Given the description of an element on the screen output the (x, y) to click on. 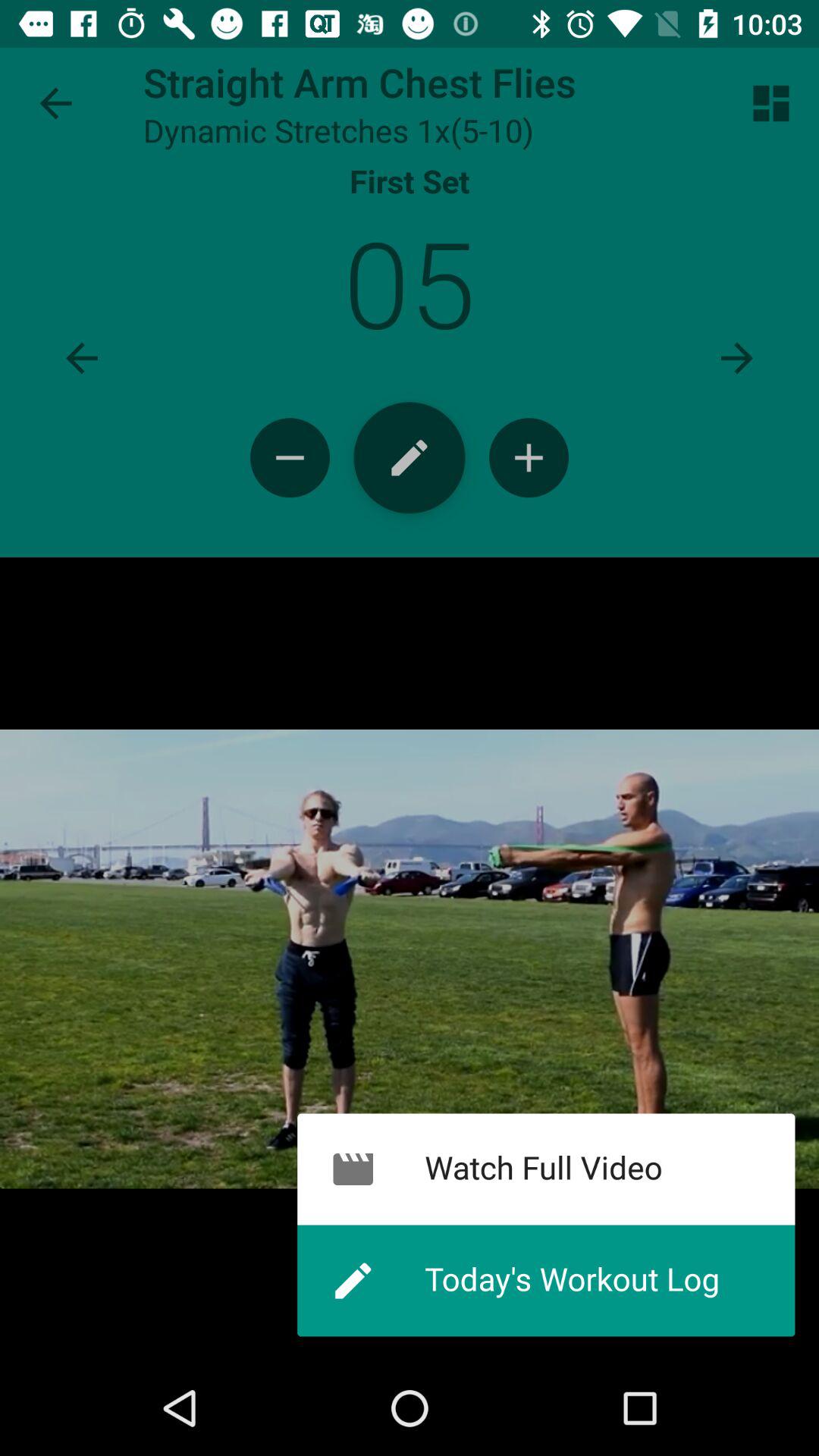
change the quantity of exercises (289, 457)
